Given the description of an element on the screen output the (x, y) to click on. 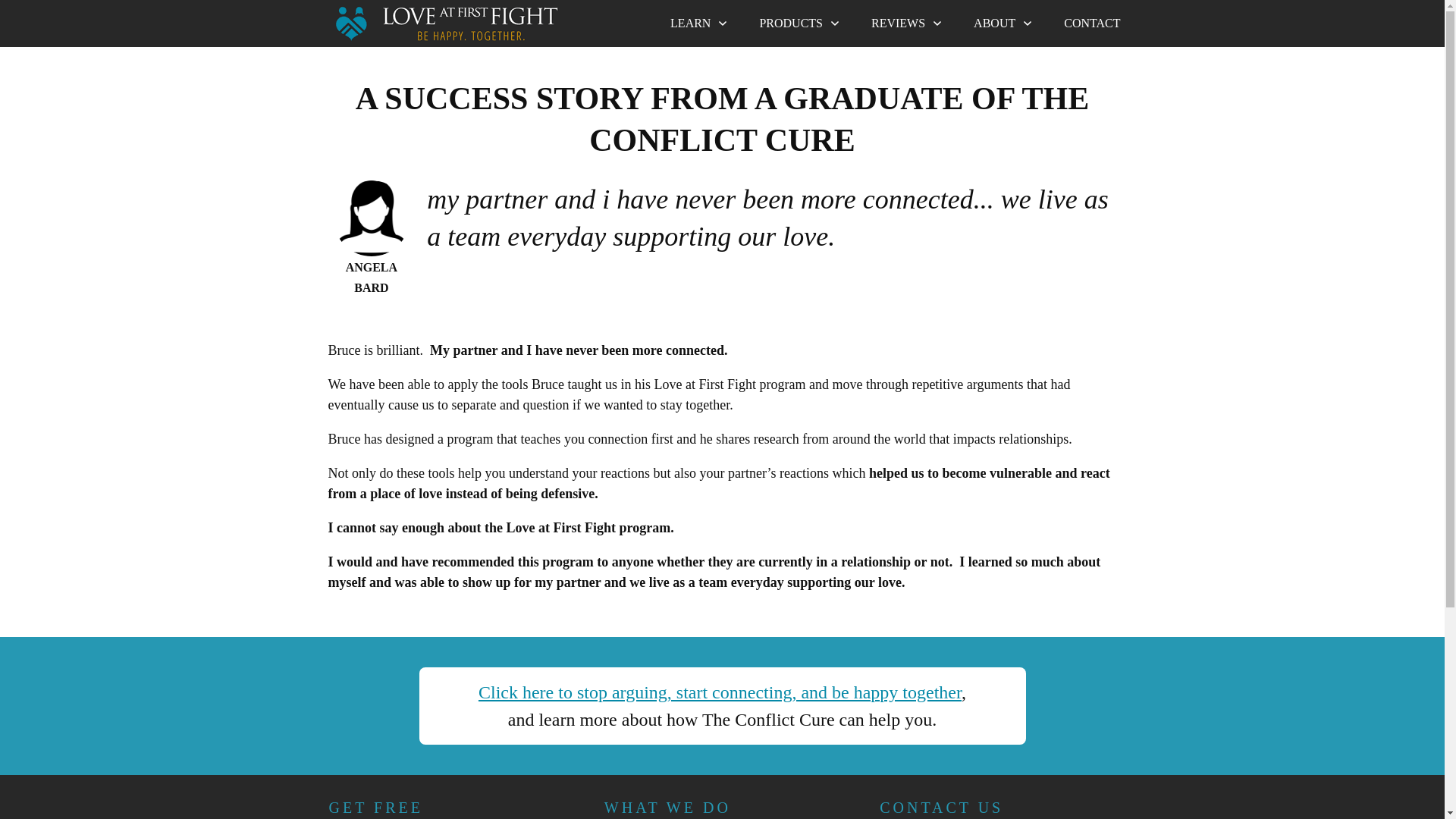
ABOUT (1003, 23)
Anonymous icon (371, 218)
CONTACT (1091, 23)
Get in touch. (1091, 23)
LEARN (699, 23)
PRODUCTS (799, 23)
REVIEWS (906, 23)
